Given the description of an element on the screen output the (x, y) to click on. 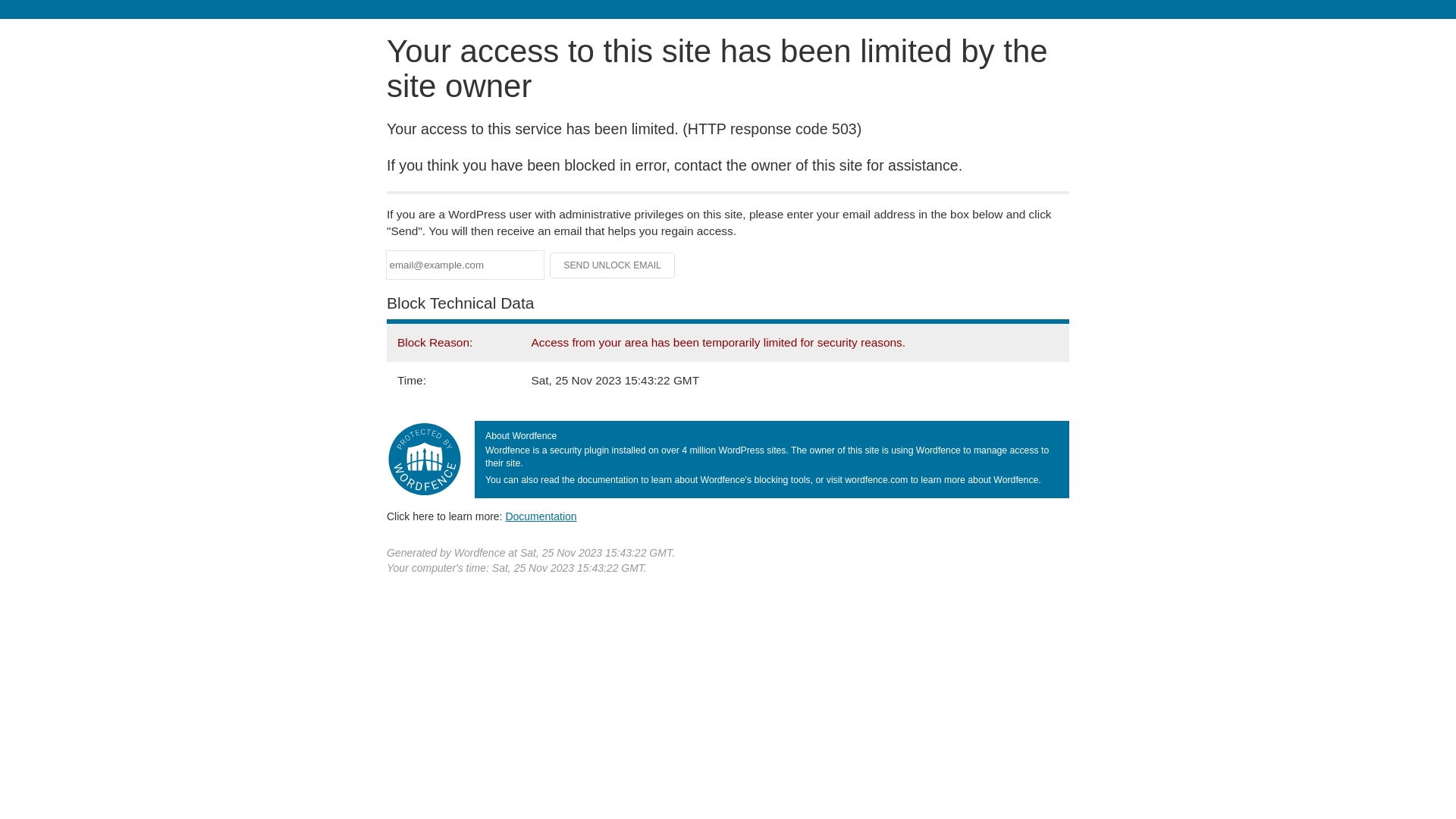
Send Unlock Email Element type: text (612, 265)
Documentation Element type: text (540, 516)
